Given the description of an element on the screen output the (x, y) to click on. 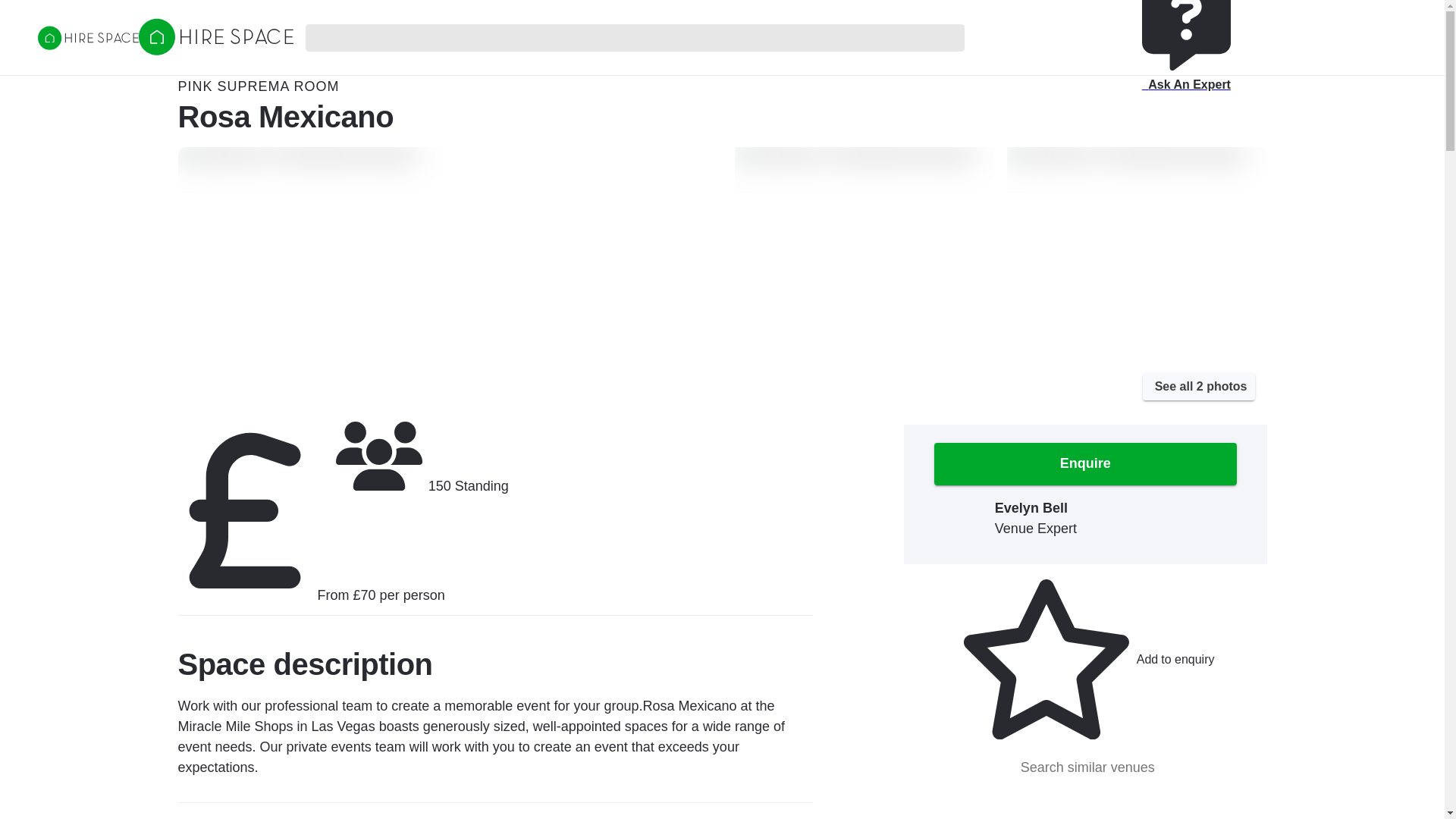
Search similar venues (1085, 767)
Solutions (1088, 6)
Hire Space (87, 37)
Hire Space (87, 39)
Enquire (1085, 464)
Venues (1003, 6)
My Hire Space (1301, 6)
  Ask An Expert (1186, 53)
Hire Space (216, 50)
Hire Space (216, 36)
